Given the description of an element on the screen output the (x, y) to click on. 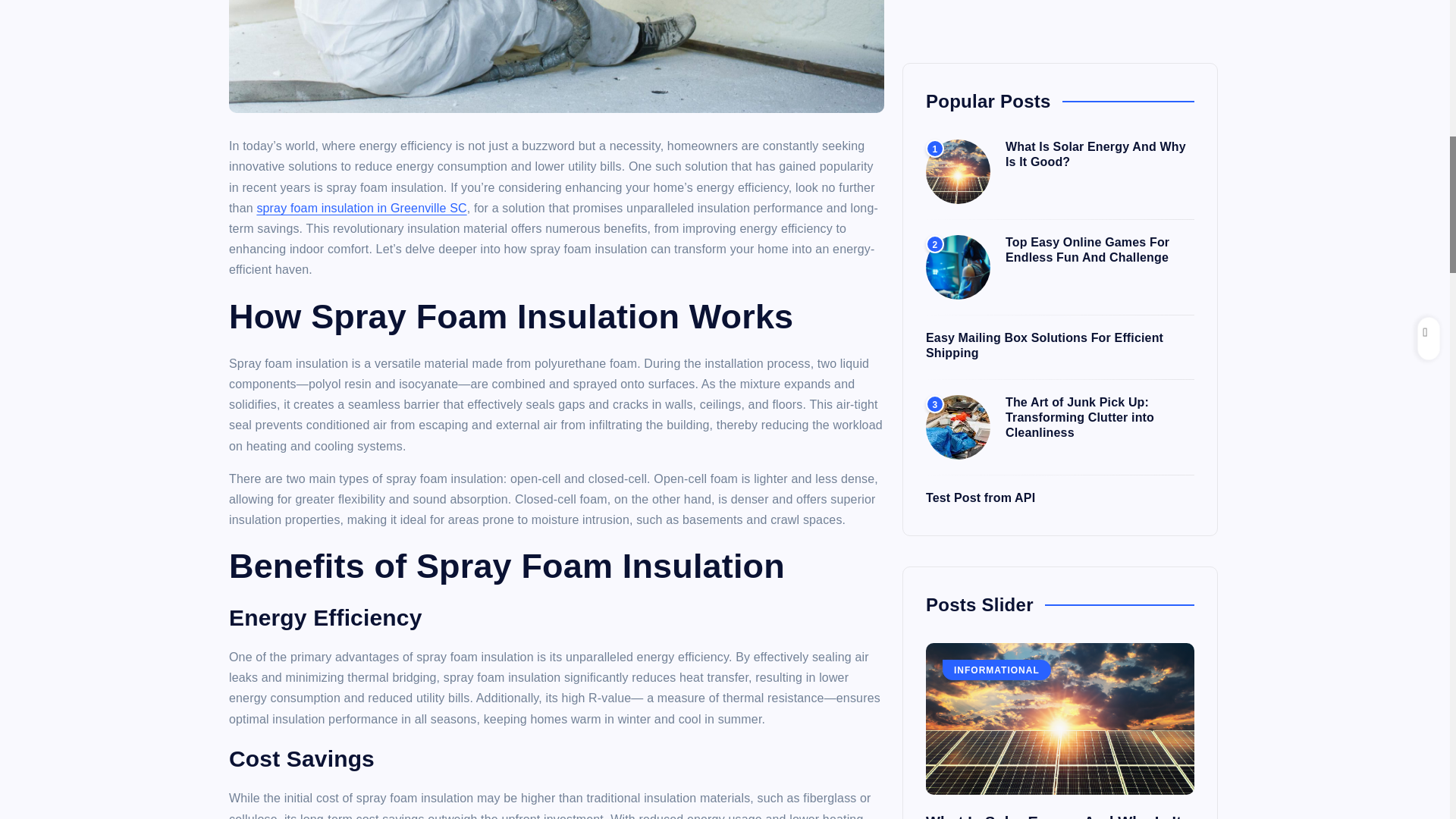
spray foam insulation in Greenville SC (360, 207)
